Given the description of an element on the screen output the (x, y) to click on. 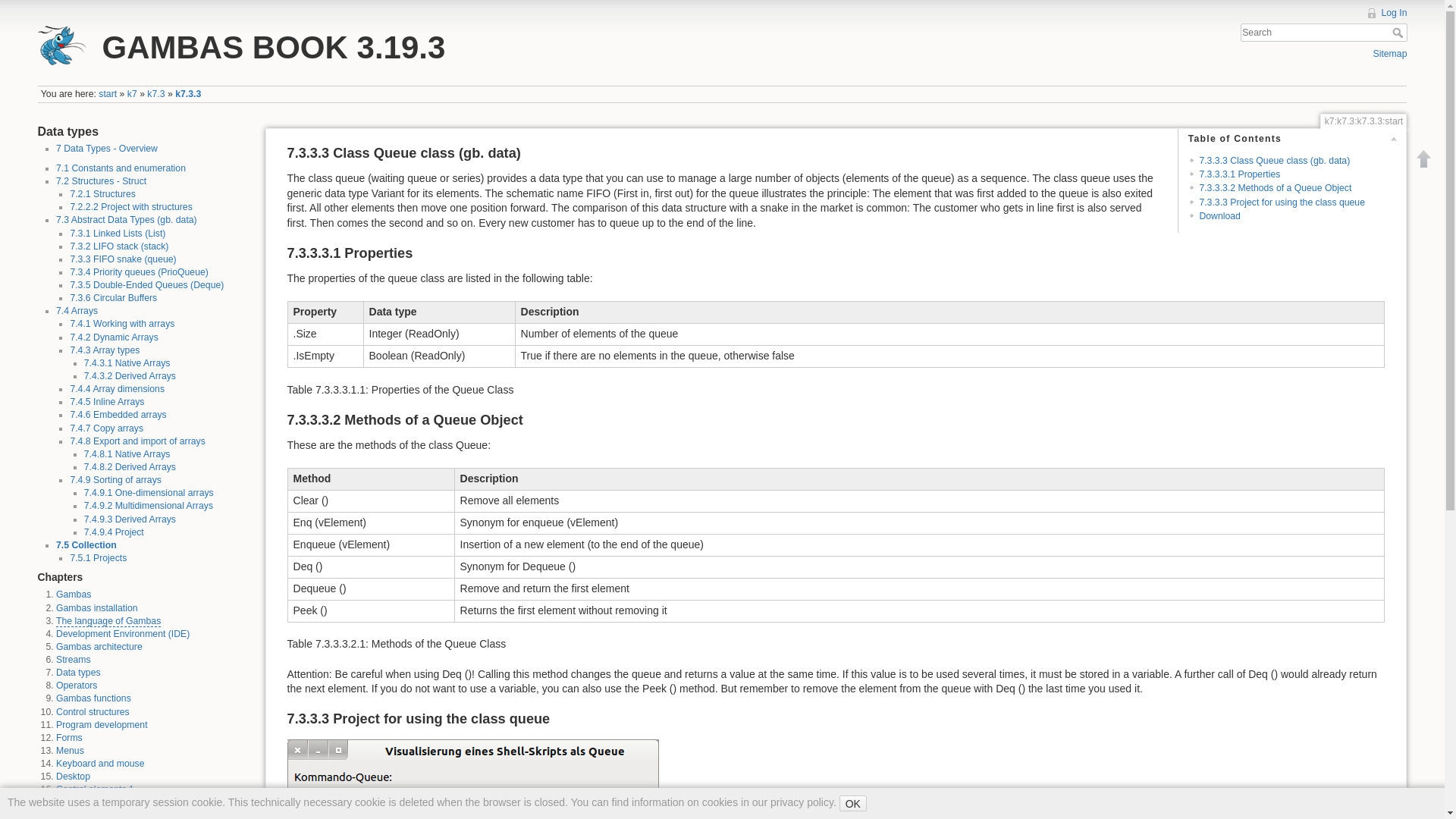
start (107, 93)
7.2 Structures - Struct (101, 181)
7.4.6 Embedded arrays (117, 414)
7.4 Arrays (76, 310)
7.4.8.1 Native Arrays (127, 453)
k7:k7.2:k7.2.2:start (130, 206)
start (107, 93)
GAMBAS BOOK 3.19.3 (373, 43)
k7 (132, 93)
7.4.1 Working with arrays (121, 323)
7.4.9.4 Project (114, 532)
7.1 Constants and enumeration (121, 167)
Log In (1385, 12)
7.4.3 Array types (104, 349)
k7:k7.3:k7.3.3:start (187, 93)
